Given the description of an element on the screen output the (x, y) to click on. 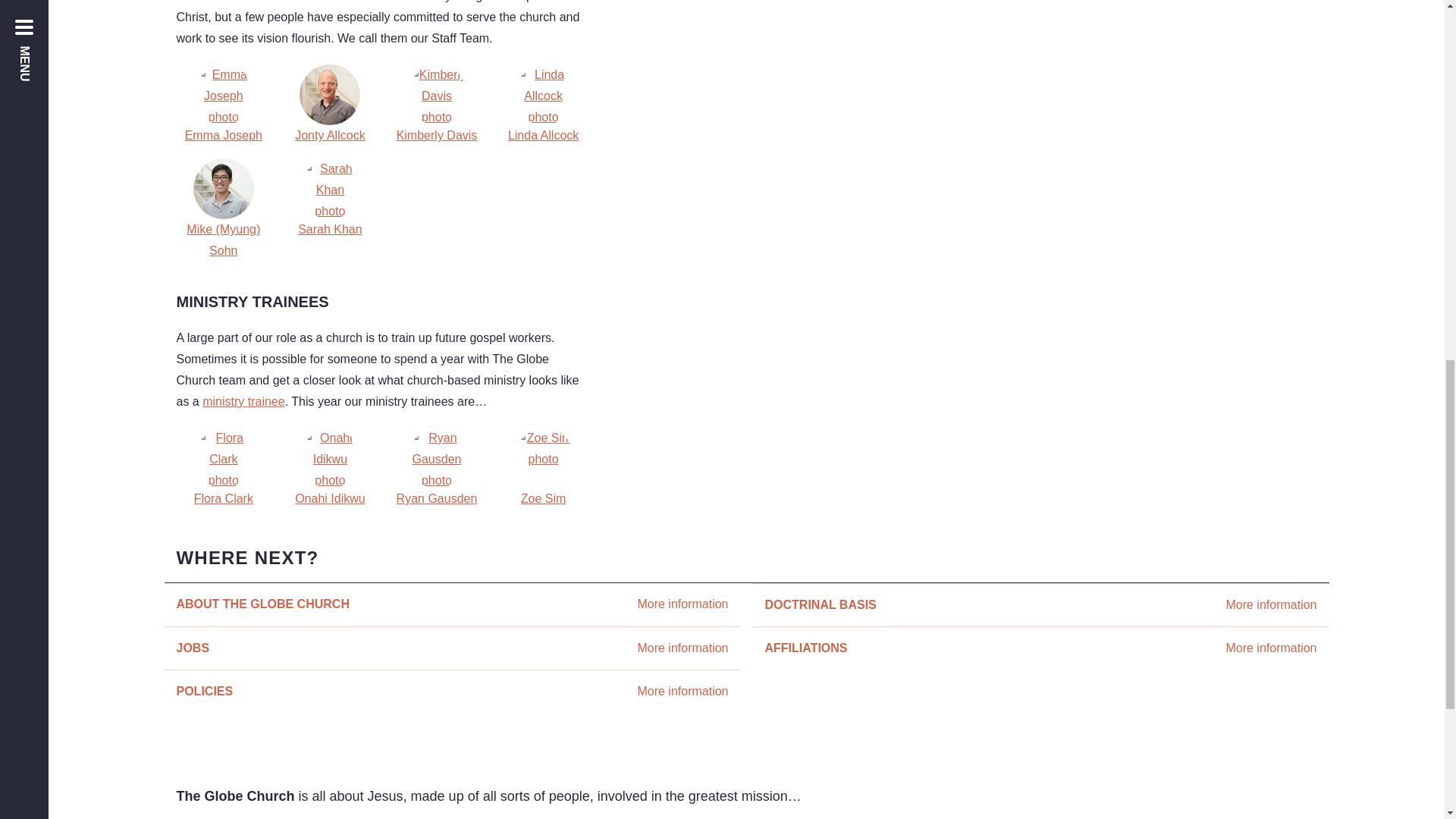
Jonty Allcock (329, 105)
Sarah Khan (329, 209)
Linda Allcock (543, 105)
Flora Clark (223, 468)
ministry trainee (451, 647)
Onahi Idikwu (451, 690)
Ryan Gausden (242, 400)
Emma Joseph (329, 468)
